Given the description of an element on the screen output the (x, y) to click on. 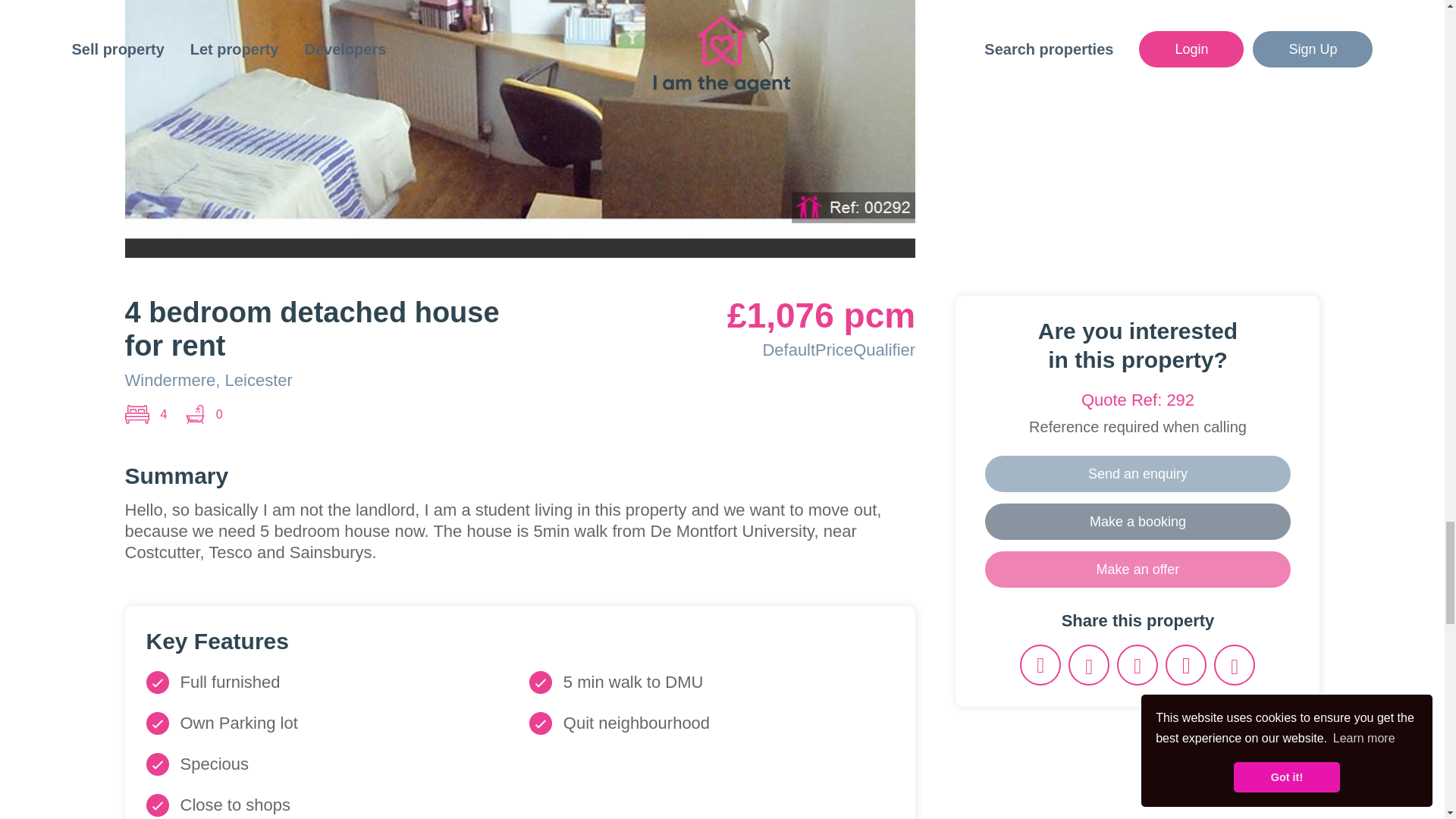
Send an enquiry (1137, 473)
Make a booking (1137, 521)
Make an offer (1137, 569)
